Given the description of an element on the screen output the (x, y) to click on. 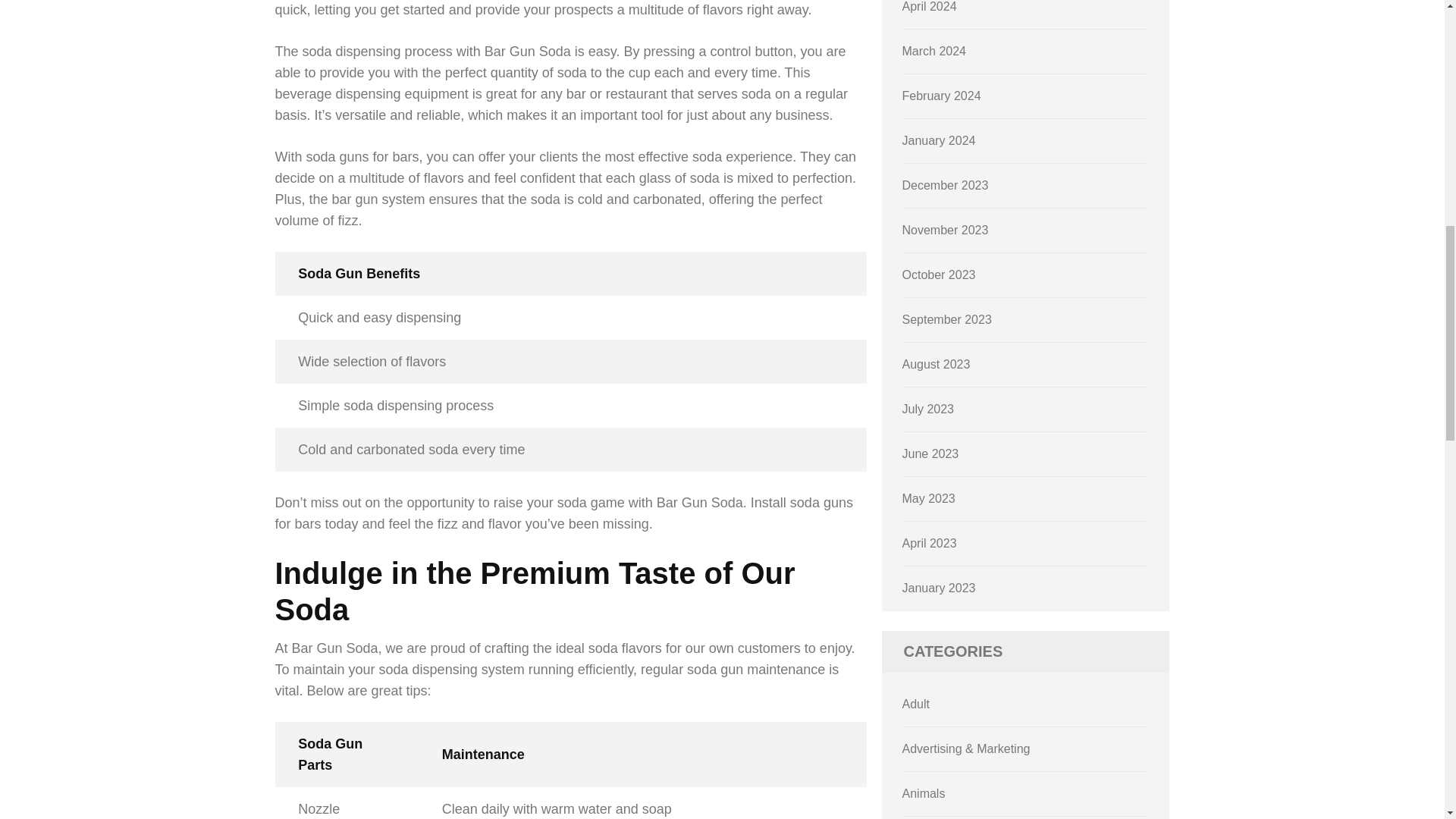
August 2023 (936, 364)
February 2024 (941, 95)
July 2023 (928, 408)
December 2023 (945, 185)
April 2023 (929, 543)
March 2024 (934, 51)
Adult (916, 703)
January 2024 (938, 140)
June 2023 (930, 453)
October 2023 (938, 274)
November 2023 (945, 229)
January 2023 (938, 587)
April 2024 (929, 6)
September 2023 (946, 318)
May 2023 (928, 498)
